Given the description of an element on the screen output the (x, y) to click on. 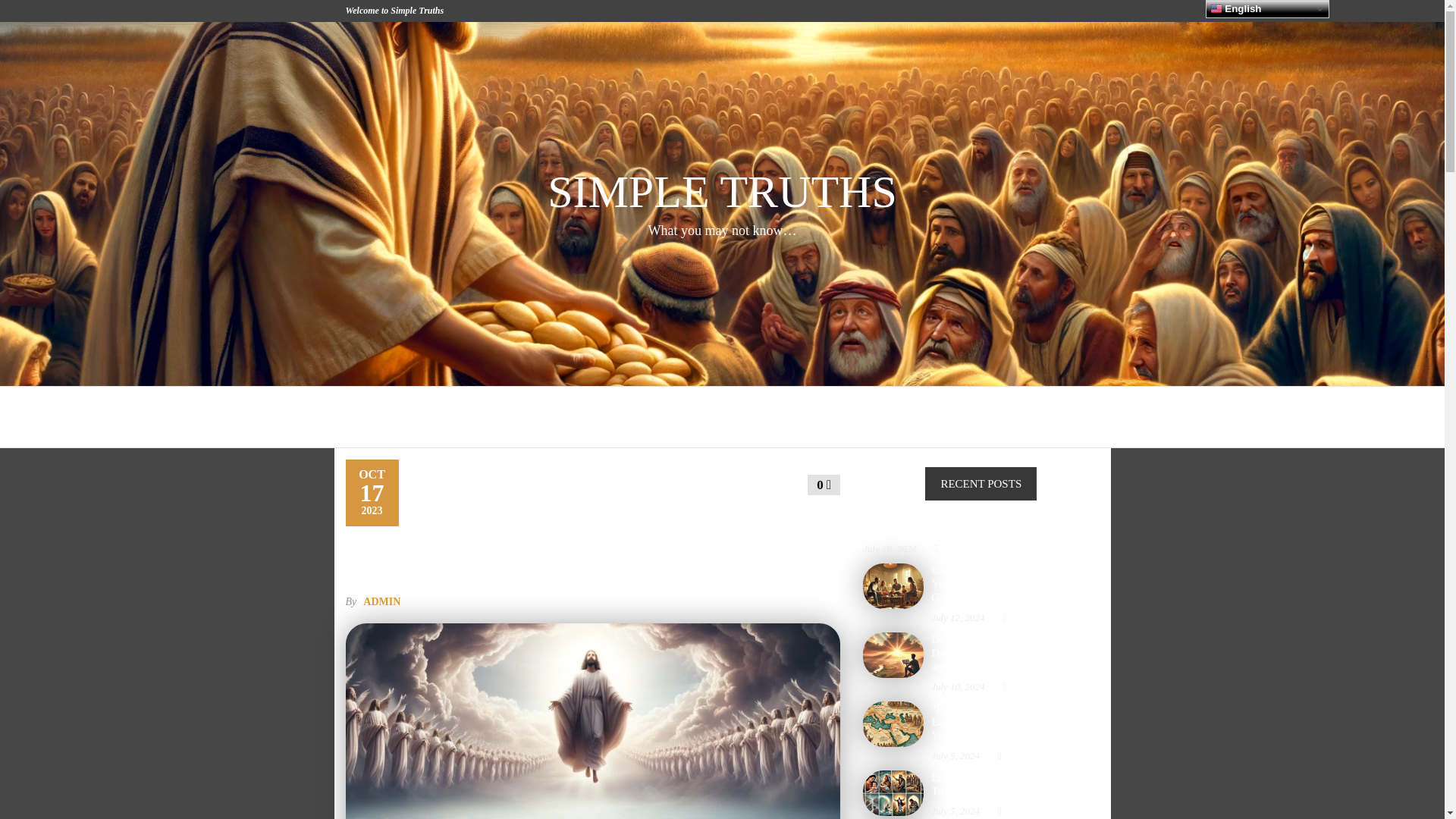
SIMPLE TRUTHS (721, 192)
BOOKS AND LEARNING (710, 416)
SONGS OF PRAISE (843, 416)
VIDEOS (927, 416)
Books and Learning (710, 416)
Categories (585, 416)
CATEGORIES (585, 416)
ADMIN (381, 601)
